Given the description of an element on the screen output the (x, y) to click on. 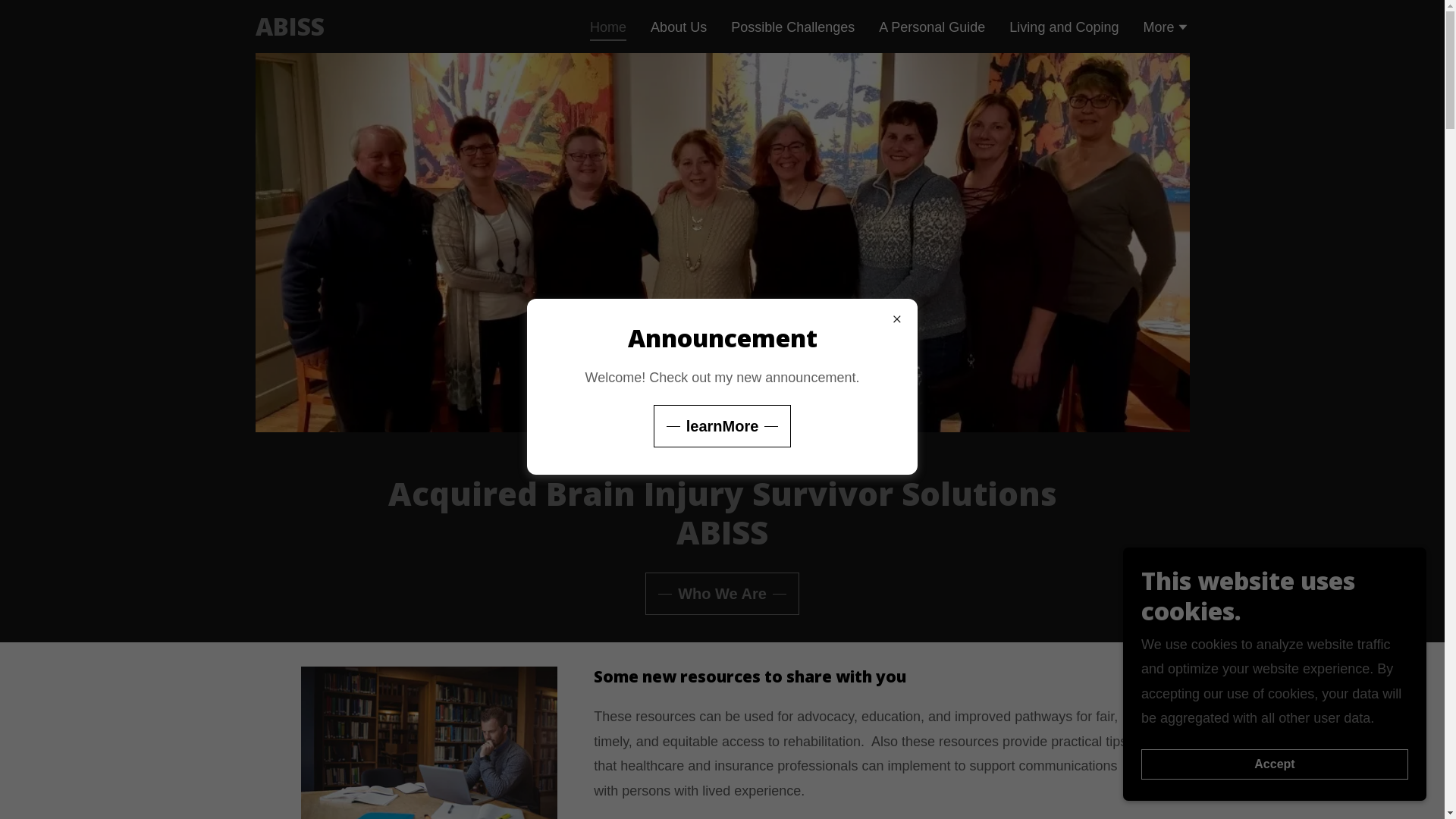
Living and Coping Element type: text (1063, 26)
More Element type: text (1165, 28)
About Us Element type: text (678, 26)
Accept Element type: text (1274, 764)
Home Element type: text (607, 29)
learnMore Element type: text (722, 425)
Possible Challenges Element type: text (792, 26)
ABISS Element type: text (288, 30)
Who We Are Element type: text (722, 593)
A Personal Guide Element type: text (931, 26)
